Given the description of an element on the screen output the (x, y) to click on. 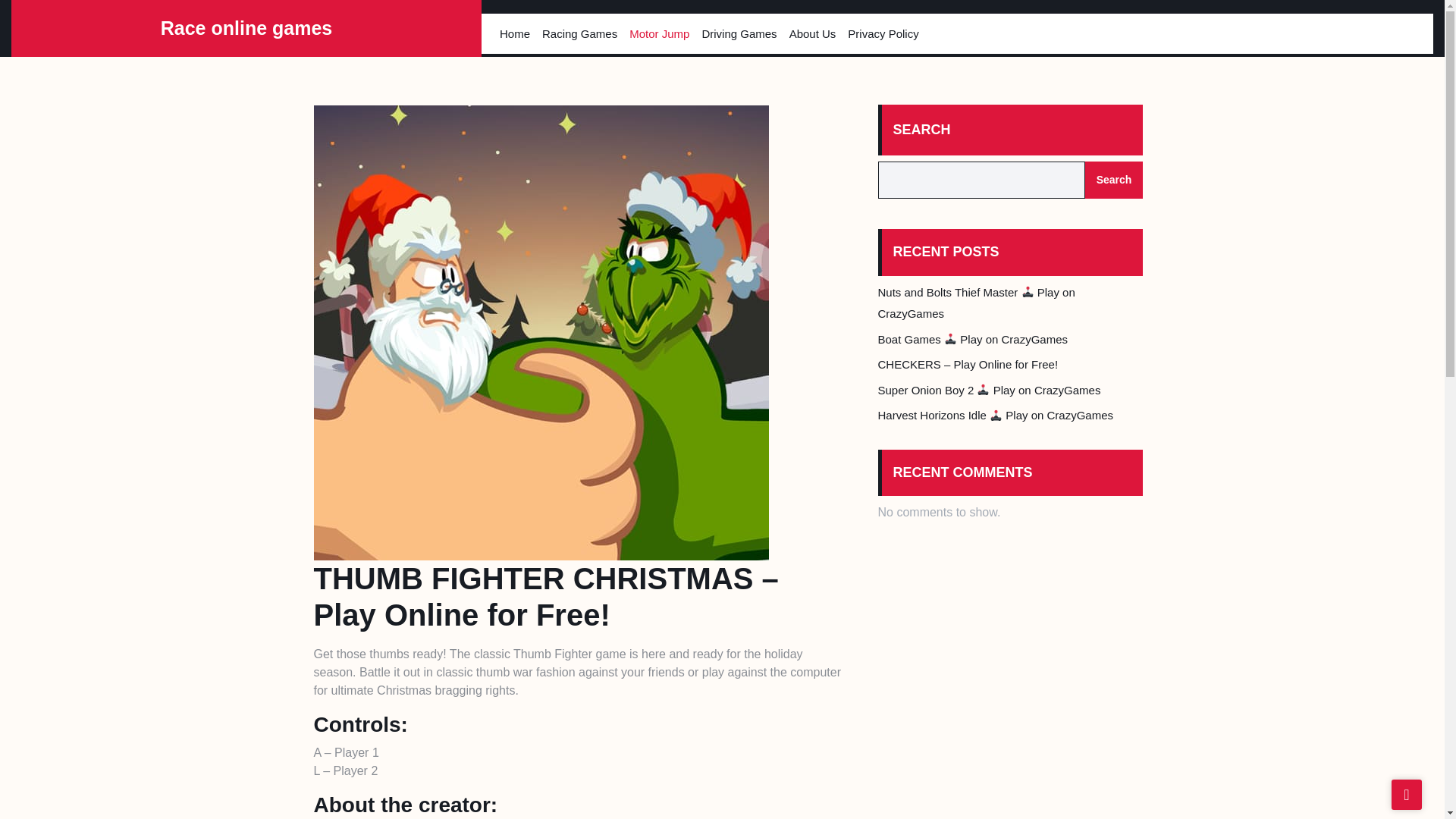
About Us (813, 33)
Super Onion Boy 2 Play on CrazyGames (988, 390)
Racing Games (579, 33)
Nuts and Bolts Thief Master Play on CrazyGames (976, 303)
Race online games (245, 27)
Boat Games Play on CrazyGames (972, 338)
Race online games (245, 27)
Harvest Horizons Idle Play on CrazyGames (995, 414)
Privacy Policy (882, 33)
Motor Jump (659, 33)
Search (1113, 180)
Home (514, 33)
Driving Games (739, 33)
